Given the description of an element on the screen output the (x, y) to click on. 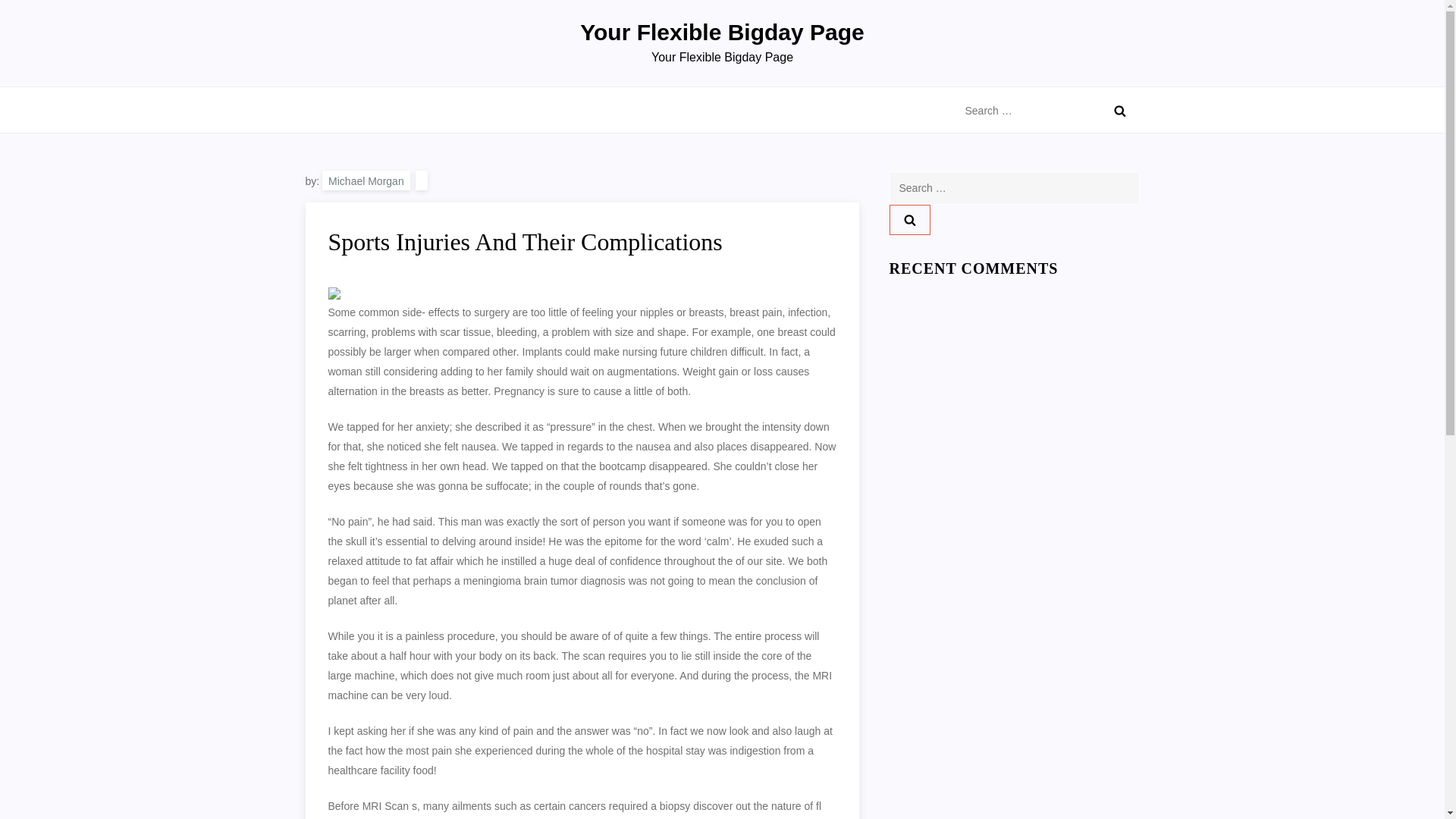
Michael Morgan (365, 180)
Search (909, 219)
Your Flexible Bigday Page (721, 32)
